Given the description of an element on the screen output the (x, y) to click on. 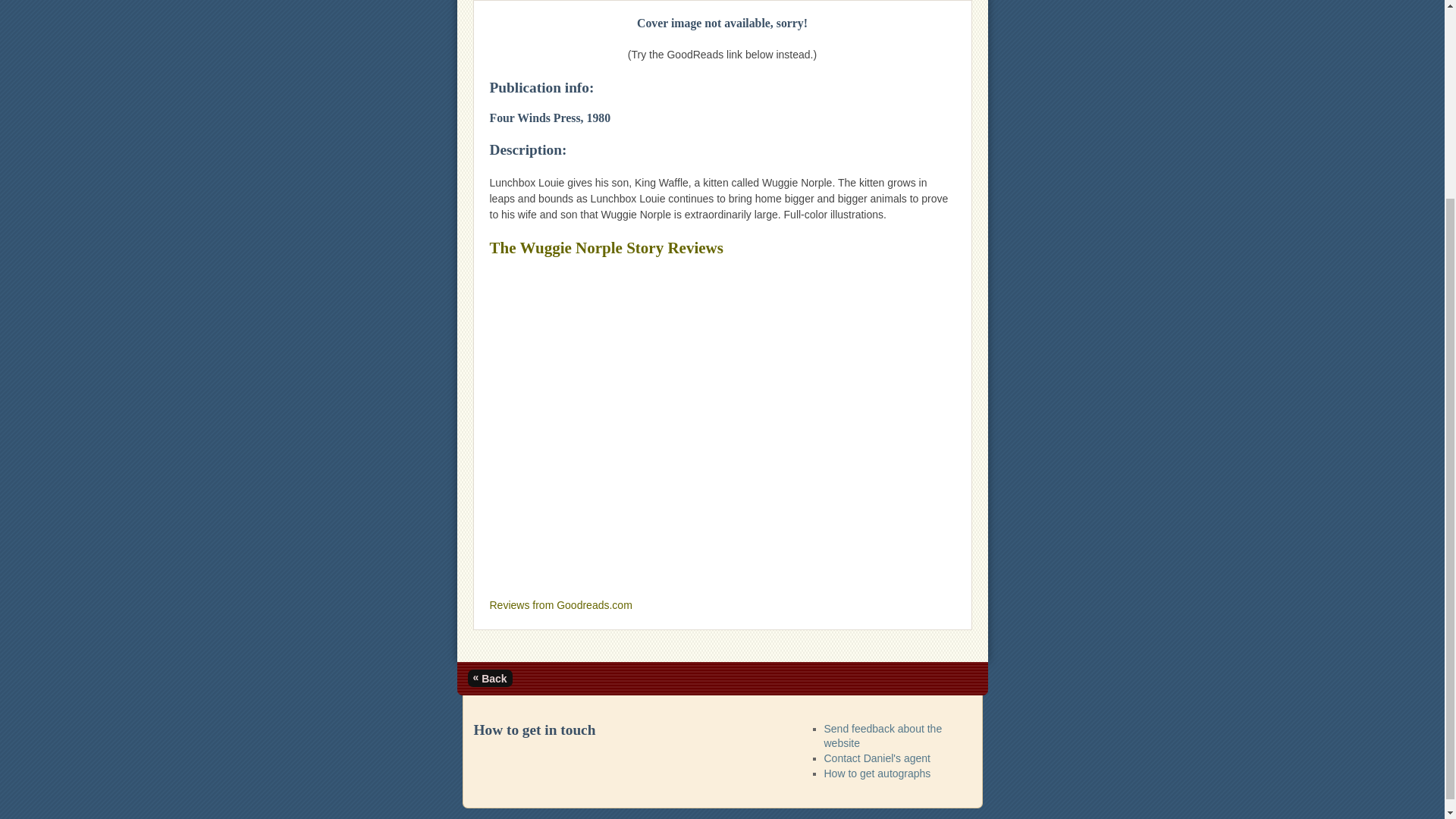
The Wuggie Norple Story Reviews (606, 248)
Reviews from Goodreads.com (560, 604)
Send feedback about the website (883, 736)
Contact Daniel's agent (877, 758)
How to get autographs (877, 773)
